Given the description of an element on the screen output the (x, y) to click on. 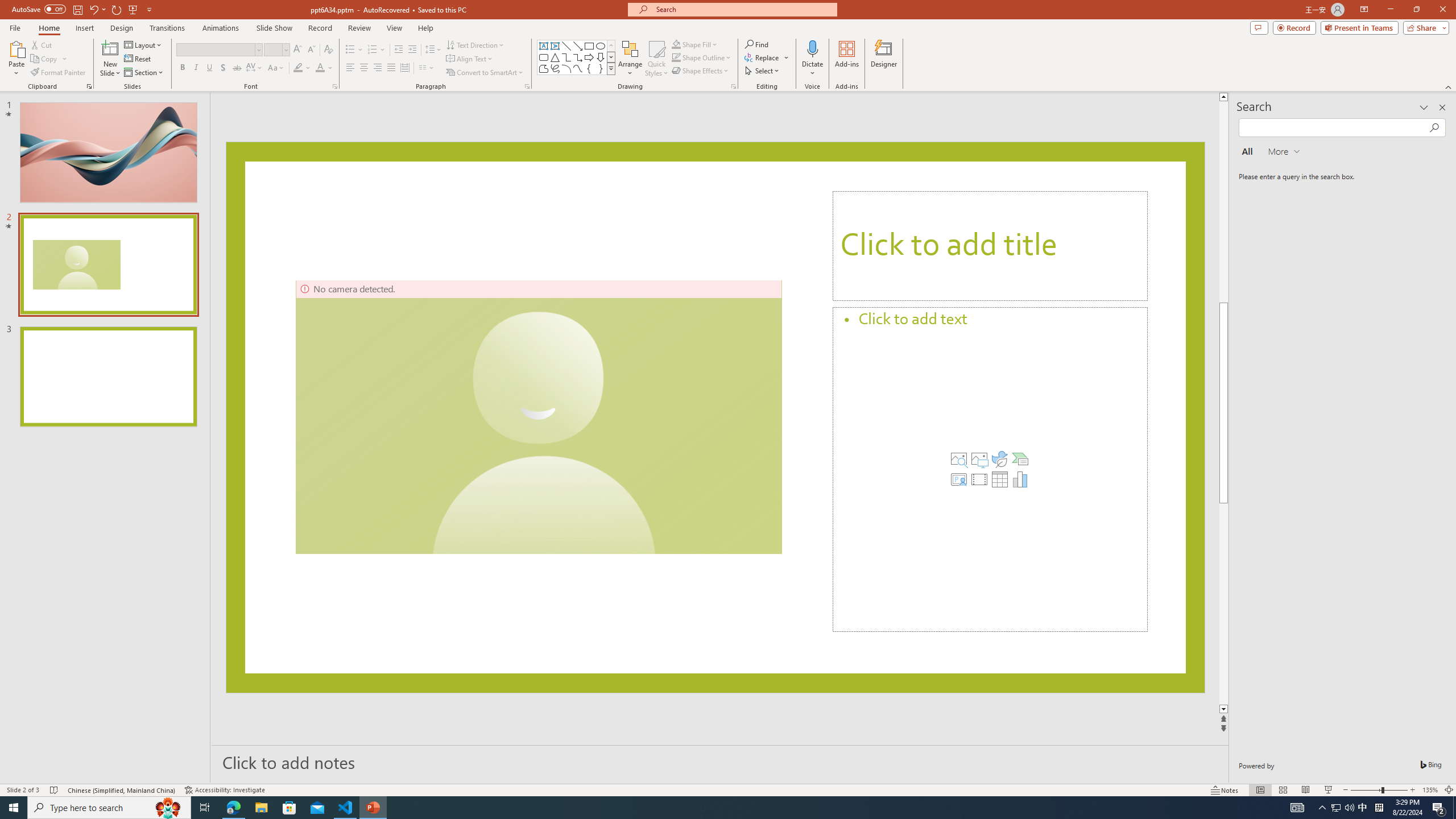
Align Text (470, 58)
Line (566, 45)
Paste (16, 48)
Close pane (1441, 107)
Paragraph... (526, 85)
Numbering (372, 49)
Line Arrow (577, 45)
Transitions (167, 28)
Open (285, 49)
Center (363, 67)
Connector: Elbow Arrow (577, 57)
Dictate (812, 48)
Arc (566, 68)
Normal (1260, 790)
